Given the description of an element on the screen output the (x, y) to click on. 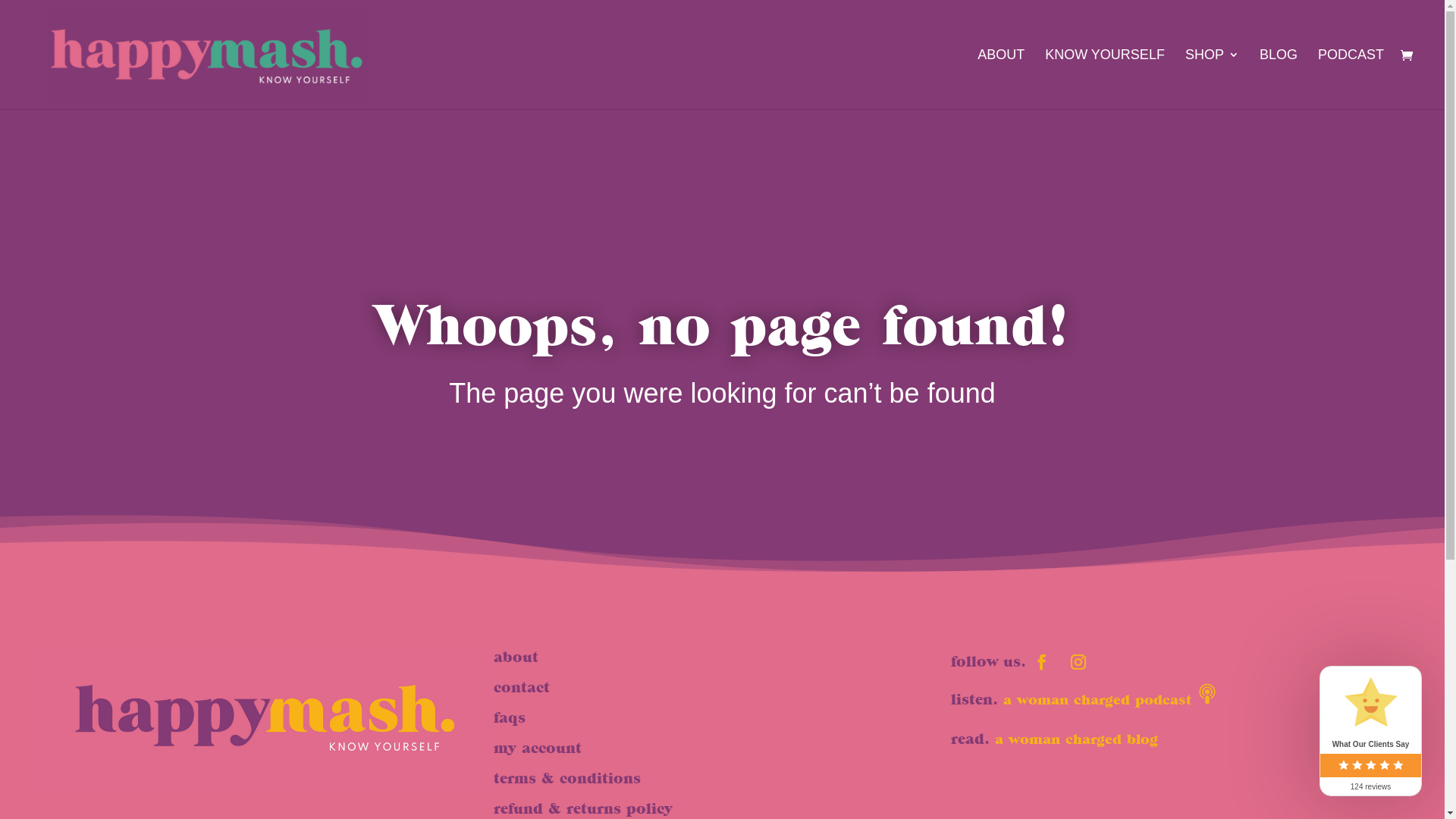
SHOP Element type: text (1212, 79)
a woman charged podcast Element type: text (1097, 698)
faqs Element type: text (509, 717)
ABOUT Element type: text (1000, 79)
about Element type: text (515, 656)
KNOW YOURSELF Element type: text (1104, 79)
PODCAST Element type: text (1350, 79)
Follow on Facebook Element type: hover (1041, 661)
my account Element type: text (537, 747)
Follow on Instagram Element type: hover (1078, 661)
a woman charged blog Element type: text (1075, 738)
refund & returns policy Element type: text (582, 808)
terms & conditions Element type: text (566, 777)
contact Element type: text (521, 686)
Happymash Logo Know Yourself Element type: hover (264, 717)
BLOG Element type: text (1278, 79)
